Given the description of an element on the screen output the (x, y) to click on. 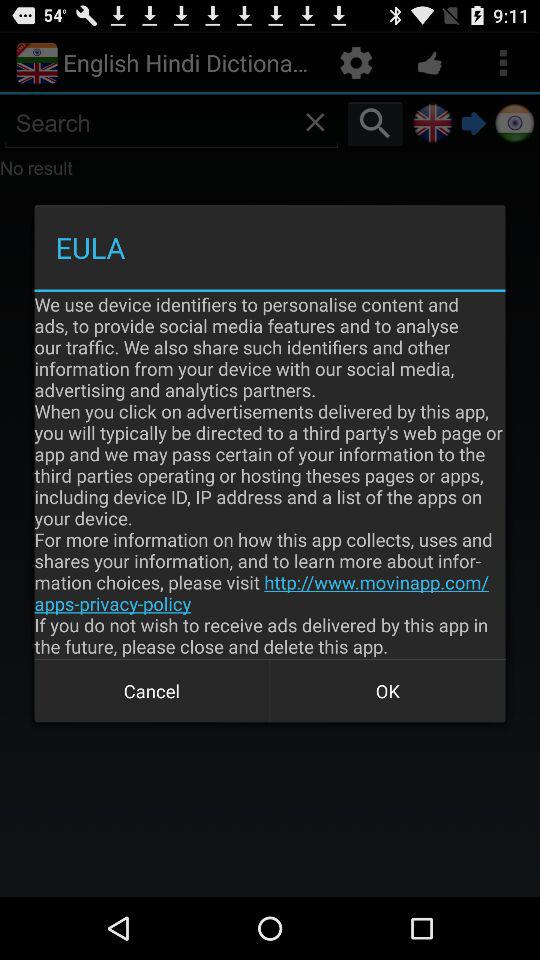
tap the icon at the bottom left corner (151, 690)
